Given the description of an element on the screen output the (x, y) to click on. 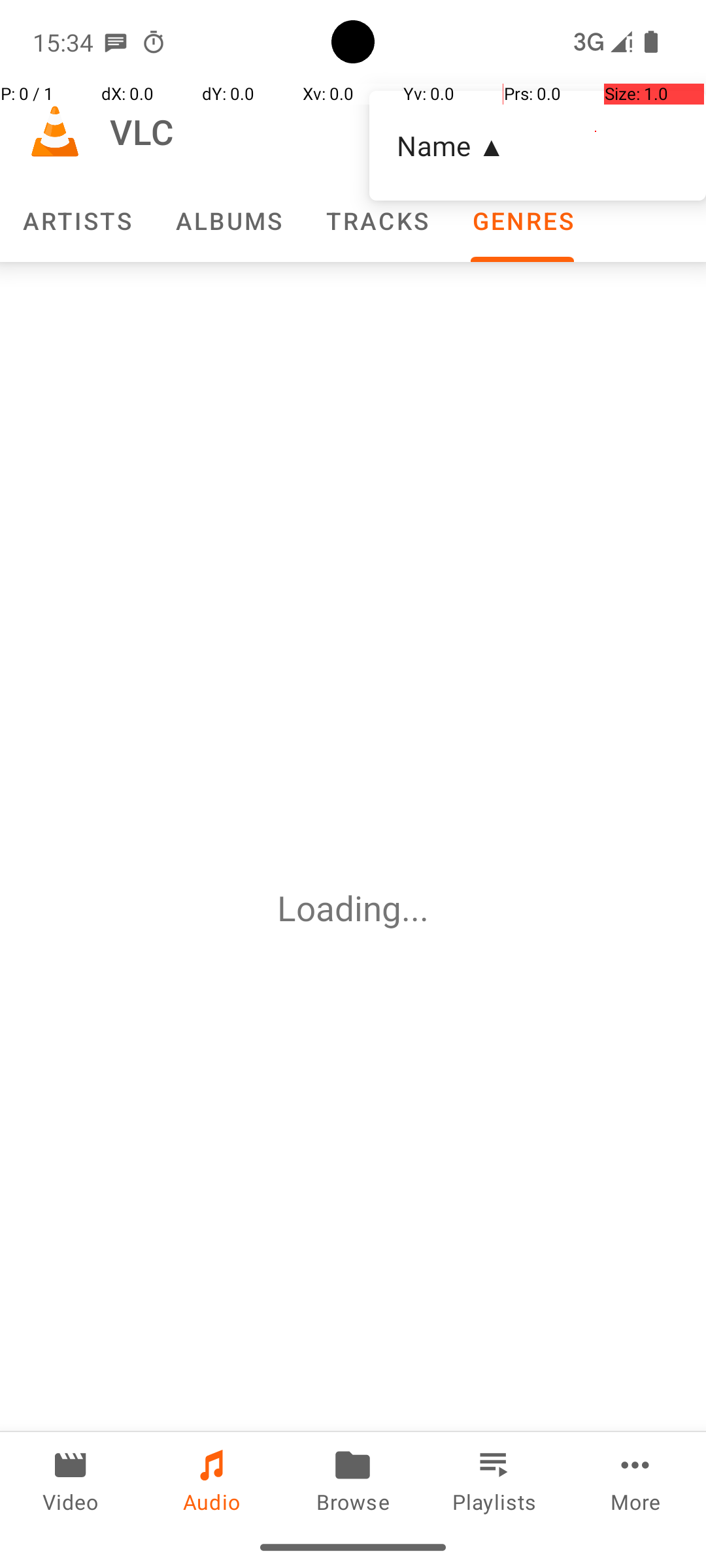
Name. Ascending Element type: android.widget.LinearLayout (537, 145)
Name ▲ Element type: android.widget.TextView (537, 145)
